Given the description of an element on the screen output the (x, y) to click on. 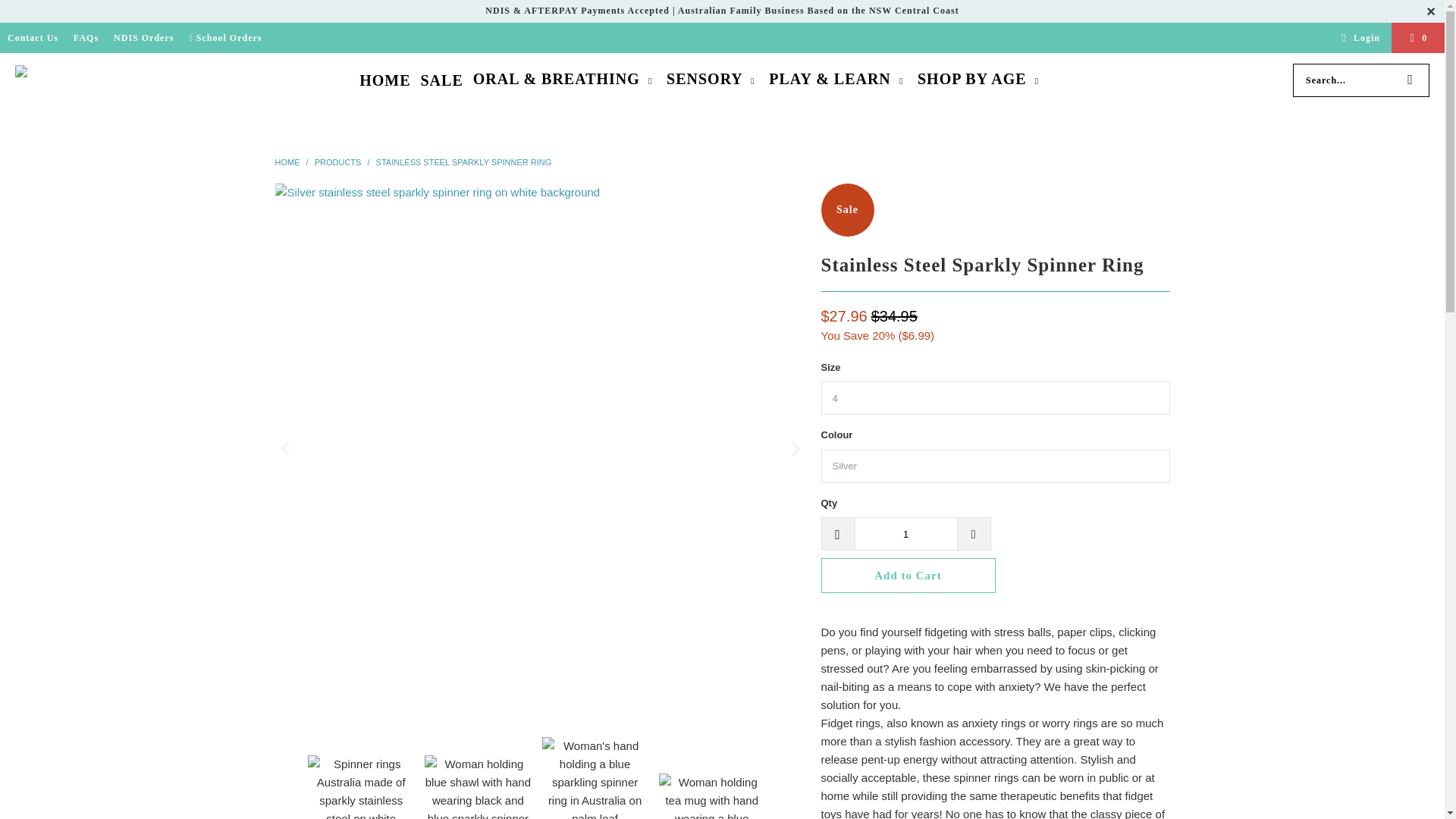
My Account  (1358, 37)
Sensory Stand (287, 162)
Sensory Stand (62, 80)
Products (337, 162)
1 (904, 533)
